Given the description of an element on the screen output the (x, y) to click on. 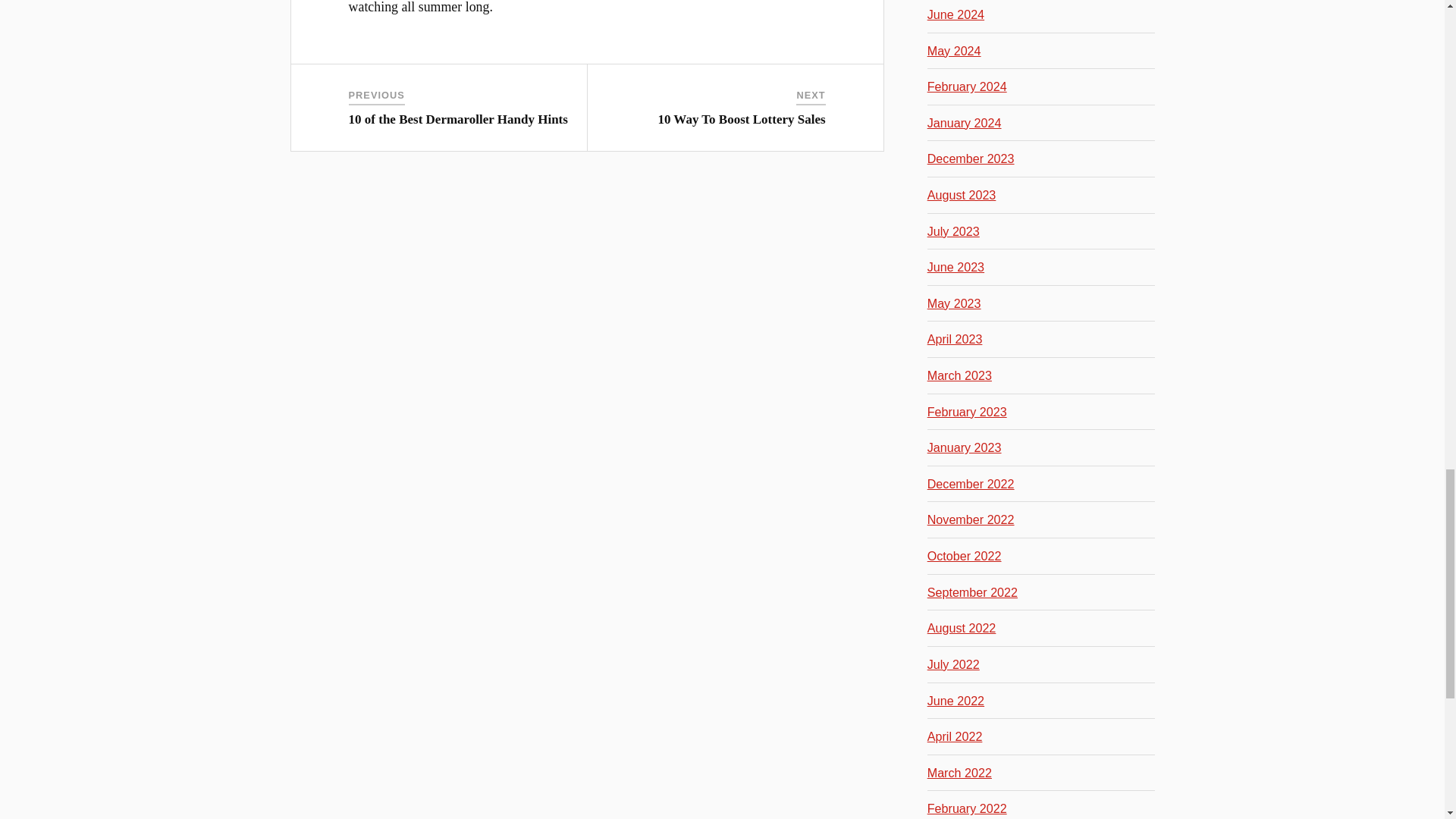
January 2024 (964, 122)
August 2023 (961, 194)
June 2023 (955, 266)
December 2023 (970, 158)
10 of the Best Dermaroller Handy Hints (458, 119)
June 2024 (955, 14)
July 2023 (953, 231)
10 Way To Boost Lottery Sales (741, 119)
May 2024 (954, 50)
February 2024 (967, 86)
